Given the description of an element on the screen output the (x, y) to click on. 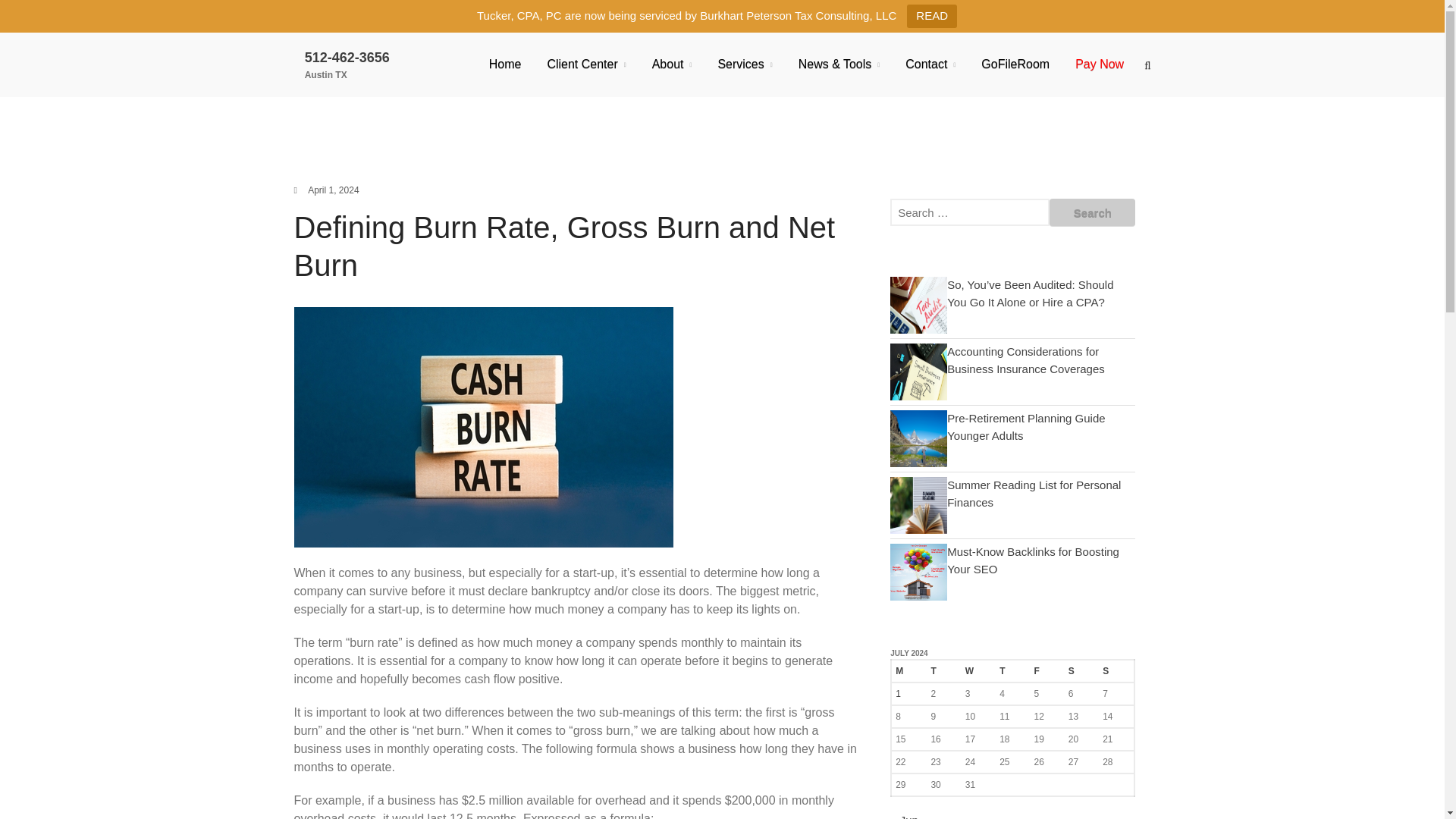
Search (1092, 212)
READ (931, 15)
Monday (908, 671)
Friday (1046, 671)
Wednesday (977, 671)
Saturday (1081, 671)
Search (1092, 212)
Sunday (1116, 671)
Thursday (1012, 671)
Tuesday (943, 671)
